Given the description of an element on the screen output the (x, y) to click on. 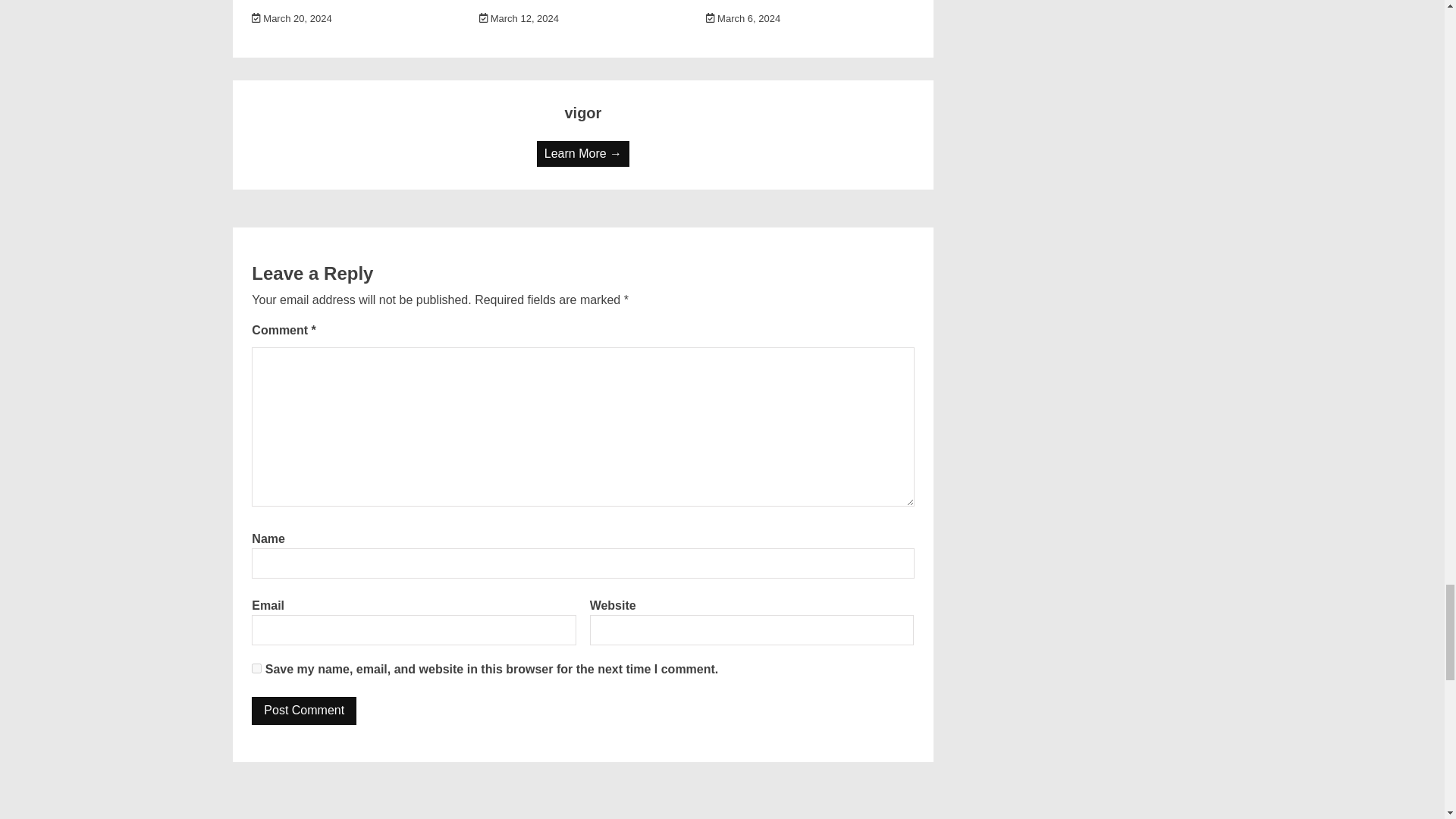
yes (256, 668)
Post Comment (303, 710)
